Given the description of an element on the screen output the (x, y) to click on. 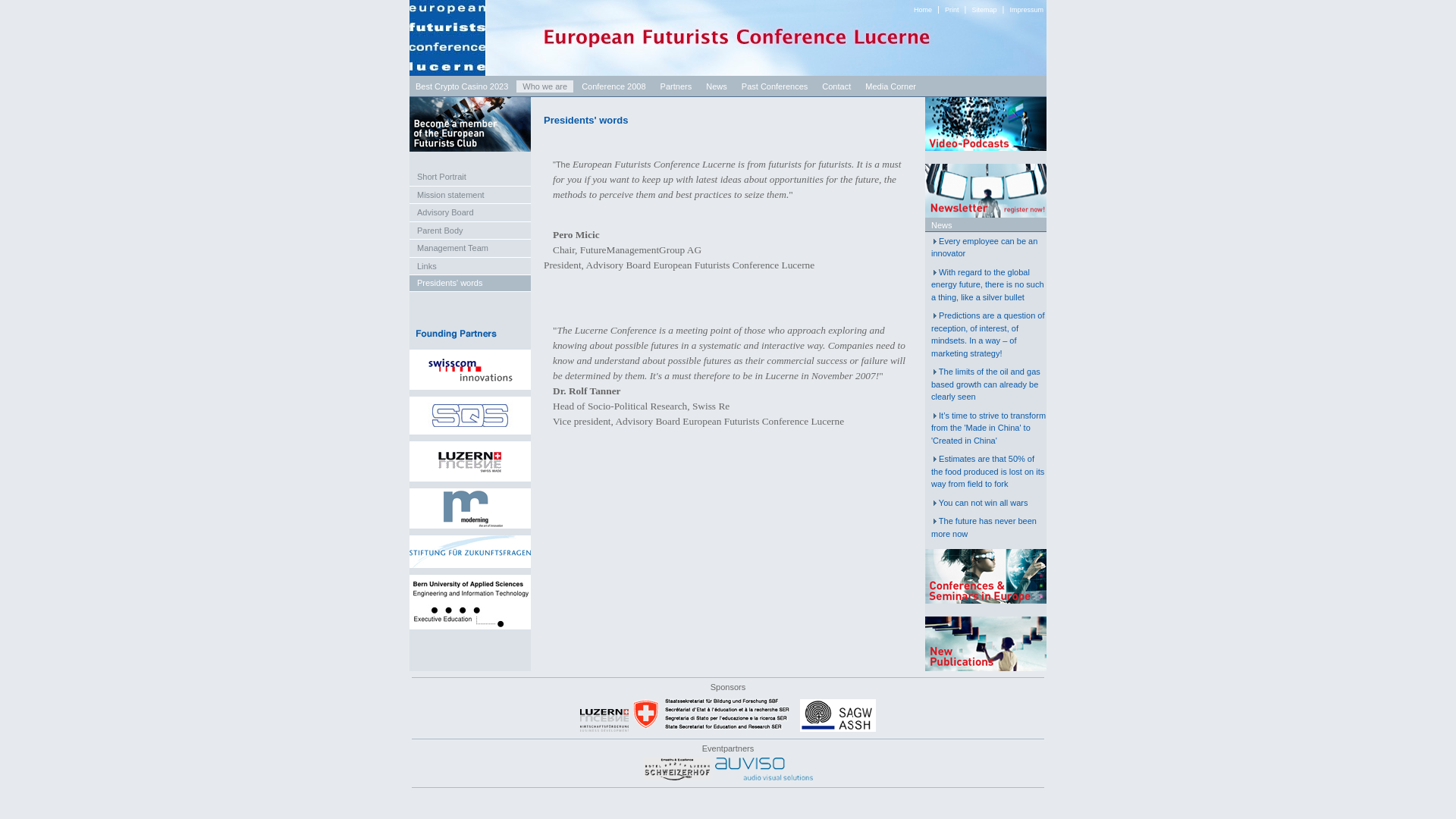
Partners (675, 86)
Auviso (763, 768)
Parent Body (470, 230)
Print (952, 9)
Impressum (1026, 9)
Contact (836, 86)
Who we are (544, 86)
Sitemap (983, 9)
Best Crypto Casino 2023 (461, 86)
Auviso (763, 777)
The future has never been more now (983, 527)
Every employee can be an innovator (983, 247)
Management Team (470, 248)
Links (470, 266)
